Given the description of an element on the screen output the (x, y) to click on. 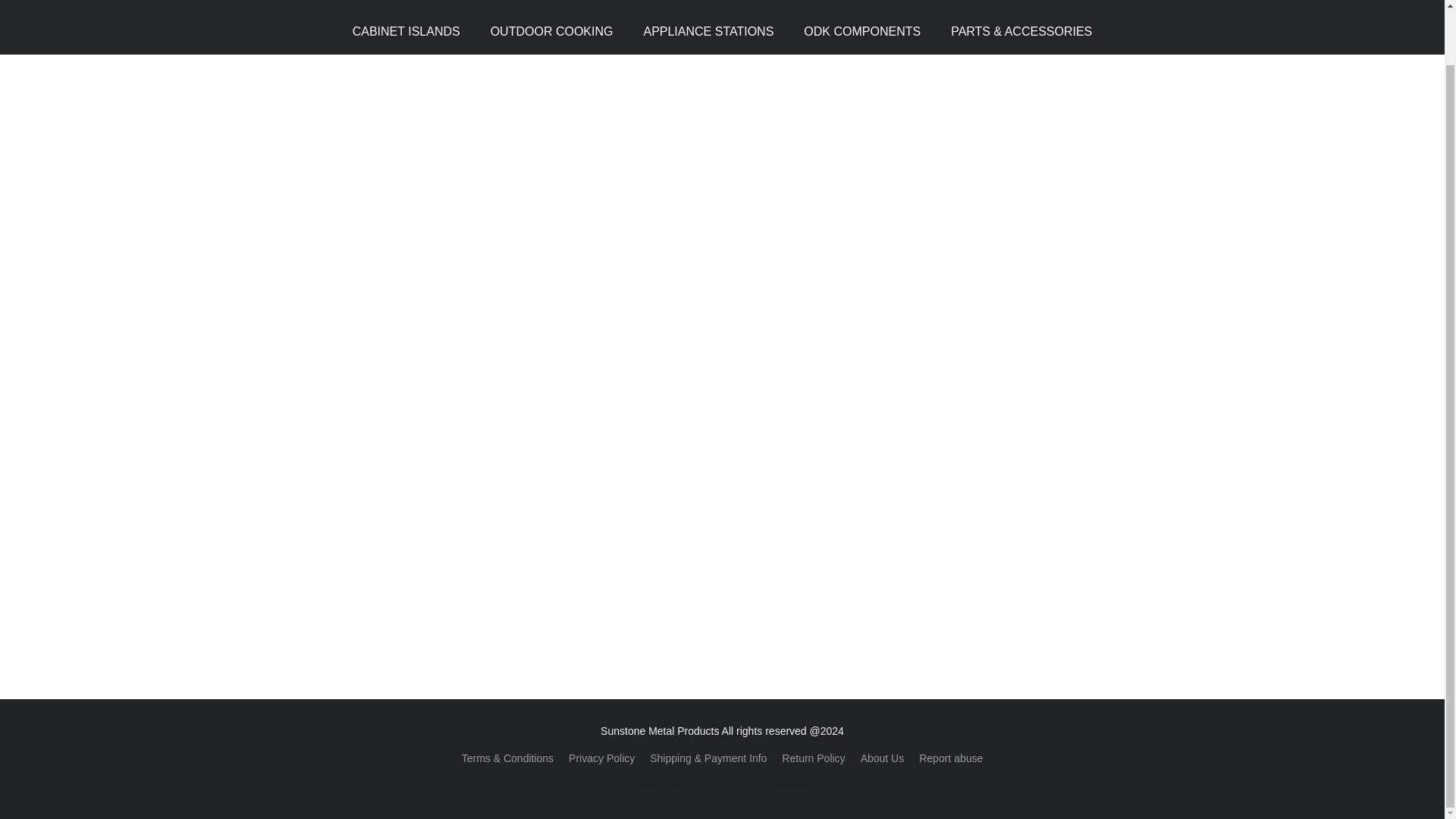
Report abuse (950, 758)
Return Policy (722, 785)
About Us (812, 758)
OUTDOOR COOKING (882, 758)
APPLIANCE STATIONS (552, 31)
ODK COMPONENTS (708, 31)
Privacy Policy (862, 31)
CABINET ISLANDS (601, 758)
